Given the description of an element on the screen output the (x, y) to click on. 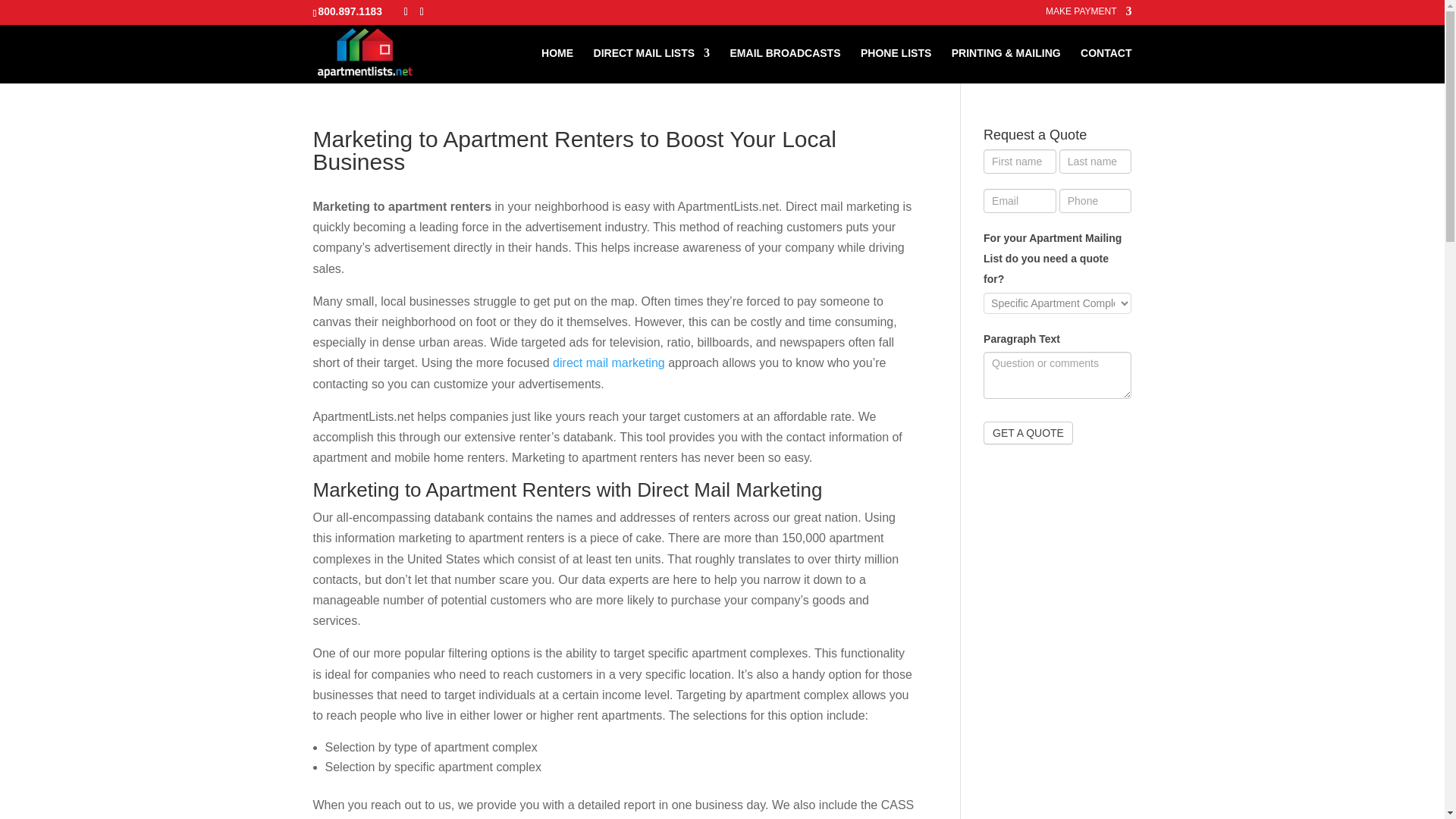
EMAIL BROADCASTS (785, 65)
PHONE LISTS (895, 65)
HOME (557, 65)
GET A QUOTE (1028, 432)
DIRECT MAIL LISTS (652, 65)
CONTACT (1105, 65)
MAKE PAYMENT (1088, 14)
